Given the description of an element on the screen output the (x, y) to click on. 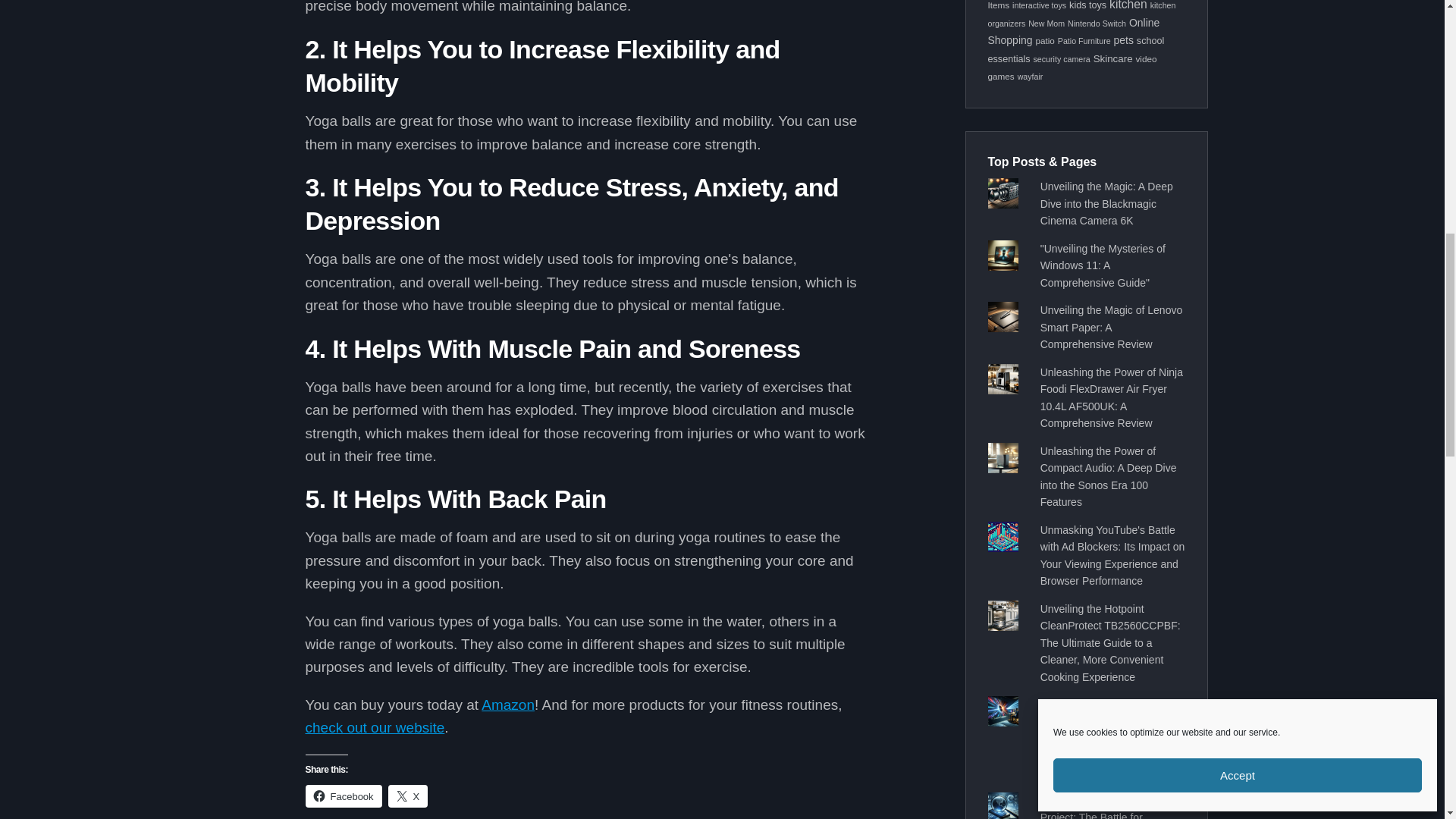
Click to share on X (408, 795)
Facebook (342, 795)
X (408, 795)
check out our website (374, 727)
Amazon (507, 704)
Click to share on Facebook (342, 795)
